Given the description of an element on the screen output the (x, y) to click on. 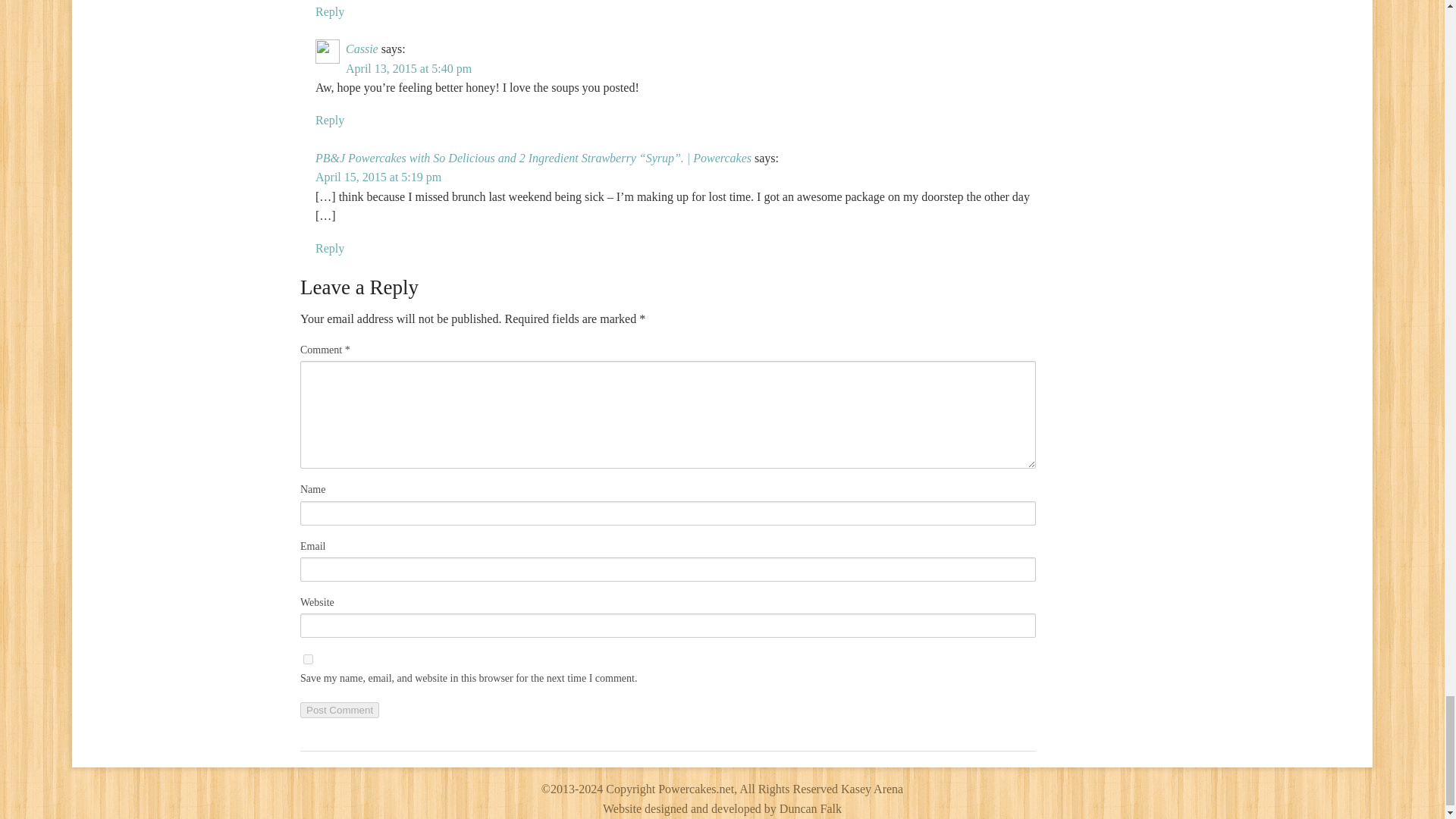
April 15, 2015 at 5:19 pm (378, 176)
yes (307, 659)
Cassie (362, 48)
Reply (329, 119)
Post Comment (338, 709)
Reply (329, 247)
Reply (329, 11)
April 13, 2015 at 5:40 pm (408, 68)
Post Comment (338, 709)
